Given the description of an element on the screen output the (x, y) to click on. 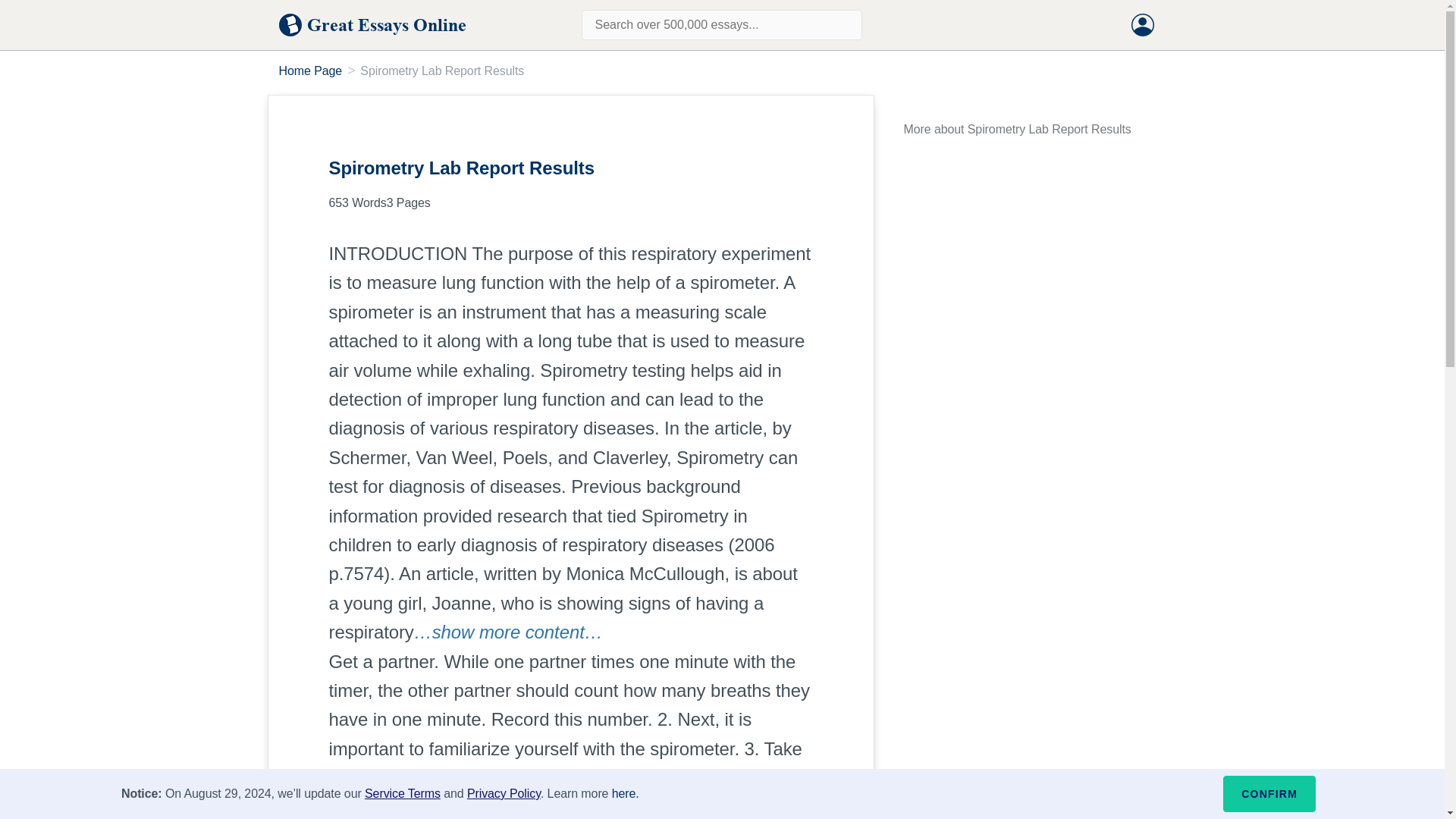
here. (625, 793)
Privacy Policy (503, 793)
Home Page (310, 70)
CONFIRM (1269, 793)
Service Terms (403, 793)
